Given the description of an element on the screen output the (x, y) to click on. 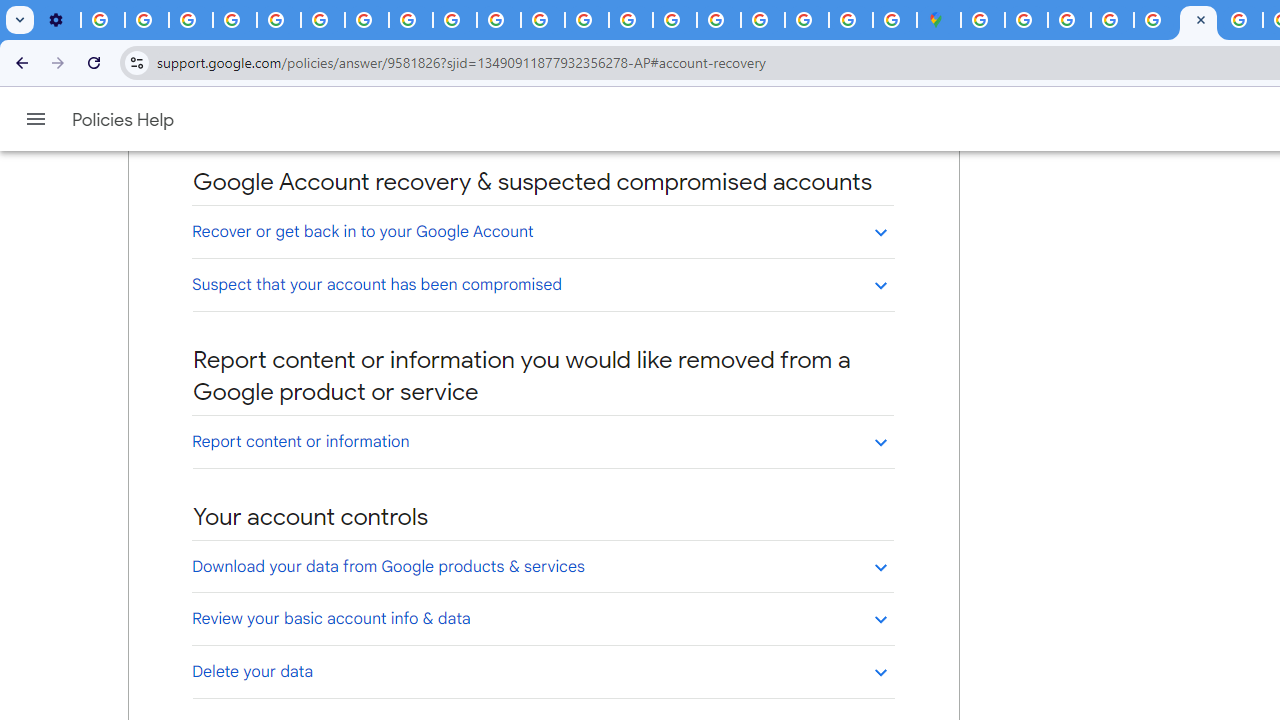
Privacy Help Center - Policies Help (278, 20)
Delete your data (542, 671)
https://scholar.google.com/ (542, 20)
Sign in - Google Accounts (762, 20)
Delete photos & videos - Computer - Google Photos Help (102, 20)
Download your data from Google products & services (542, 566)
Google Maps (938, 20)
